Given the description of an element on the screen output the (x, y) to click on. 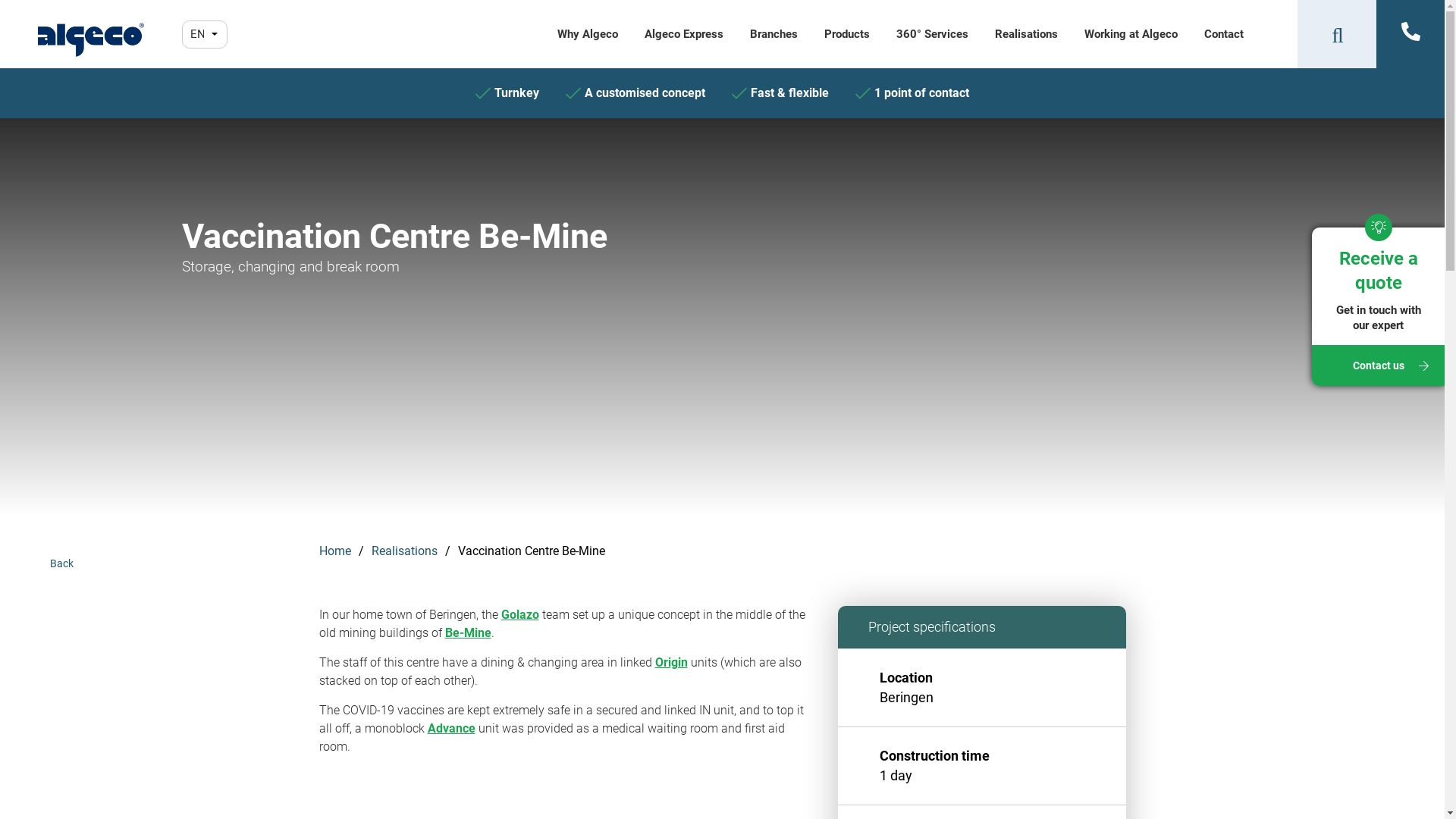
Home Element type: text (334, 551)
Products Element type: text (846, 33)
Skip to main content Element type: text (0, 117)
Algeco Express Element type: text (683, 33)
Contact Element type: text (1223, 33)
Why Algeco Element type: text (587, 33)
Contact us Element type: text (1377, 365)
Working at Algeco Element type: text (1130, 33)
Origin Element type: text (671, 662)
Realisations Element type: text (1025, 33)
Back Element type: text (61, 555)
Be-Mine Element type: text (467, 632)
Realisations Element type: text (404, 551)
Advance Element type: text (451, 728)
Enter the terms you wish to search for. Element type: hover (1331, 34)
Golazo Element type: text (519, 614)
Receive a quote
Get in touch with our expert Element type: text (1377, 293)
Branches Element type: text (773, 33)
